Given the description of an element on the screen output the (x, y) to click on. 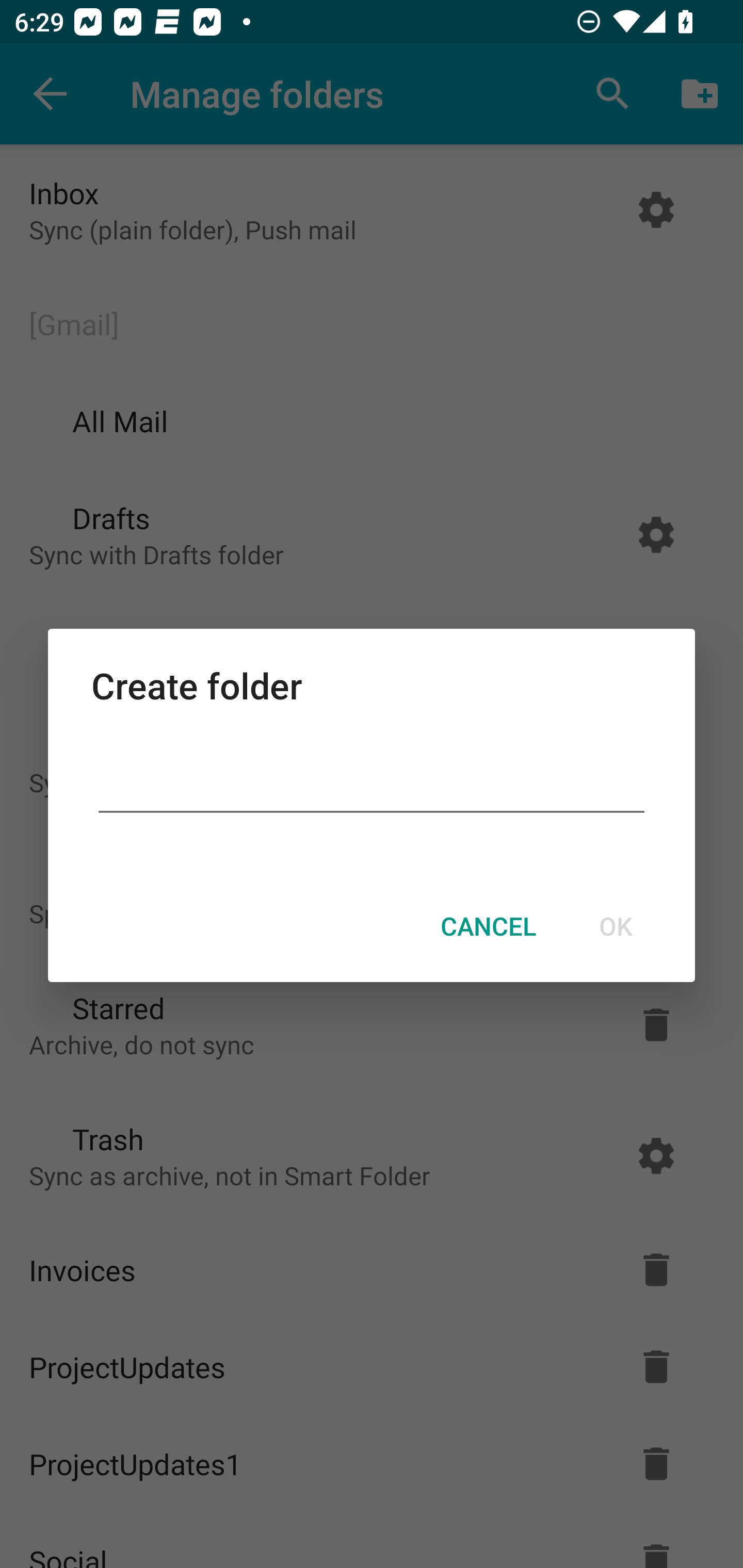
CANCEL (488, 926)
OK (615, 926)
